Given the description of an element on the screen output the (x, y) to click on. 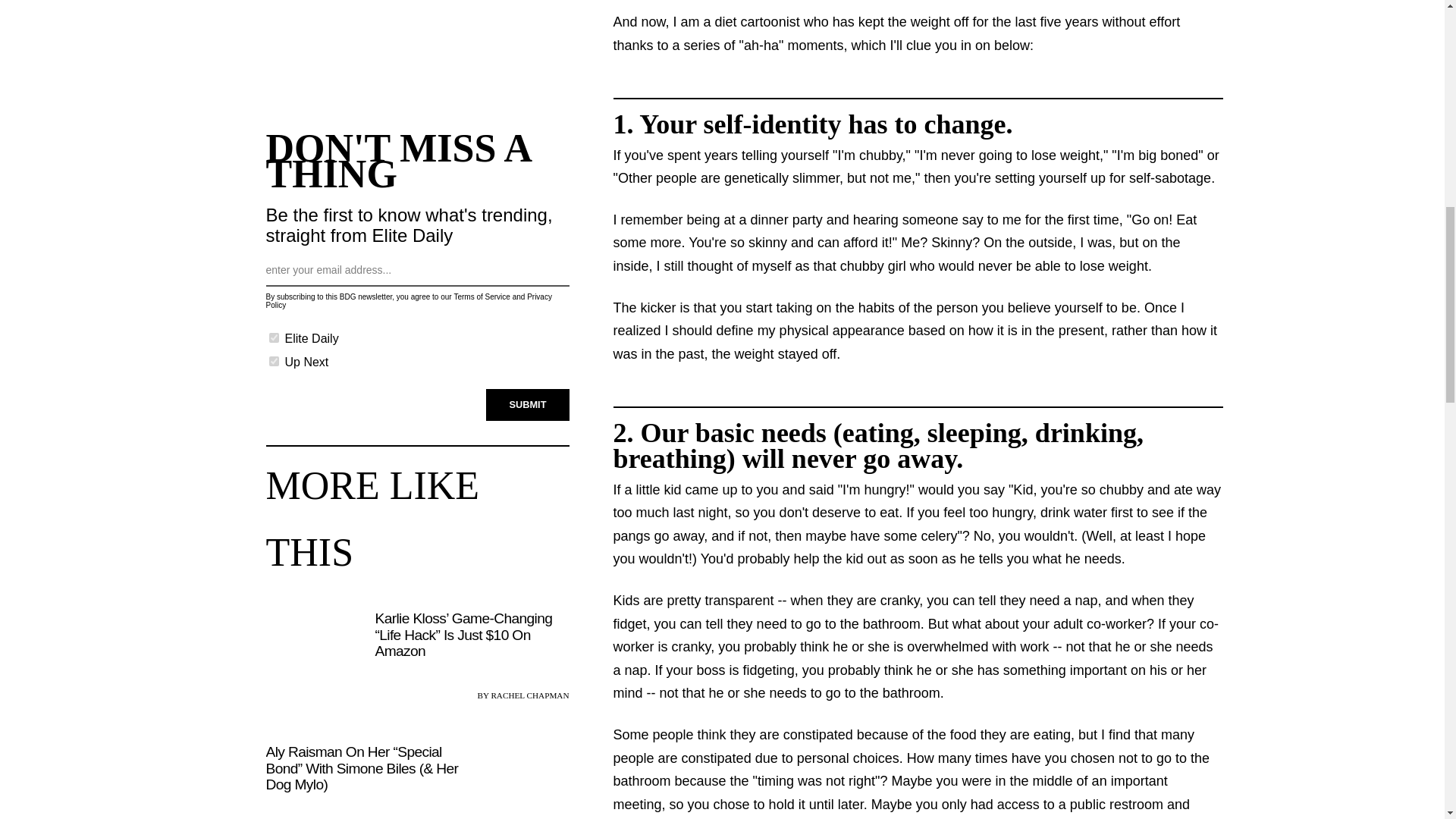
Privacy Policy (407, 300)
SUBMIT (527, 403)
Terms of Service (480, 296)
